Given the description of an element on the screen output the (x, y) to click on. 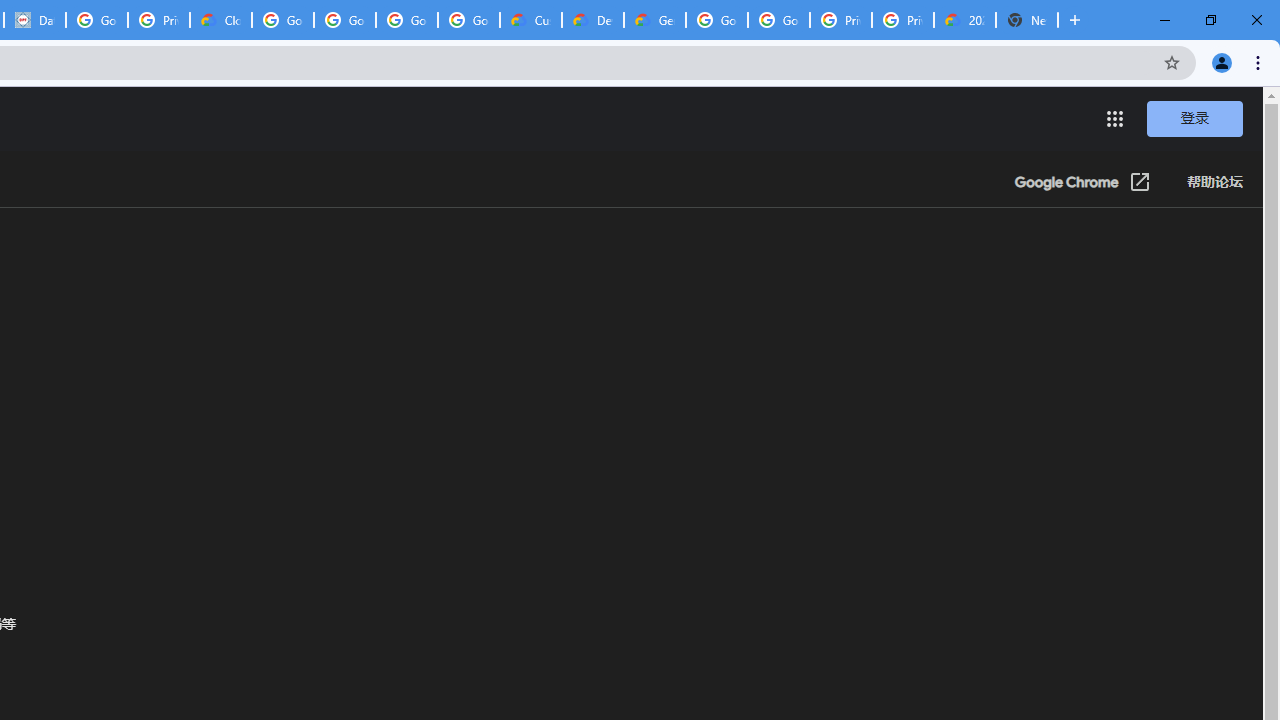
Cloud Data Processing Addendum | Google Cloud (220, 20)
Customer Care | Google Cloud (530, 20)
New Tab (1026, 20)
Gemini for Business and Developers | Google Cloud (654, 20)
Google Workspace - Specific Terms (468, 20)
Google Cloud Platform (778, 20)
